Given the description of an element on the screen output the (x, y) to click on. 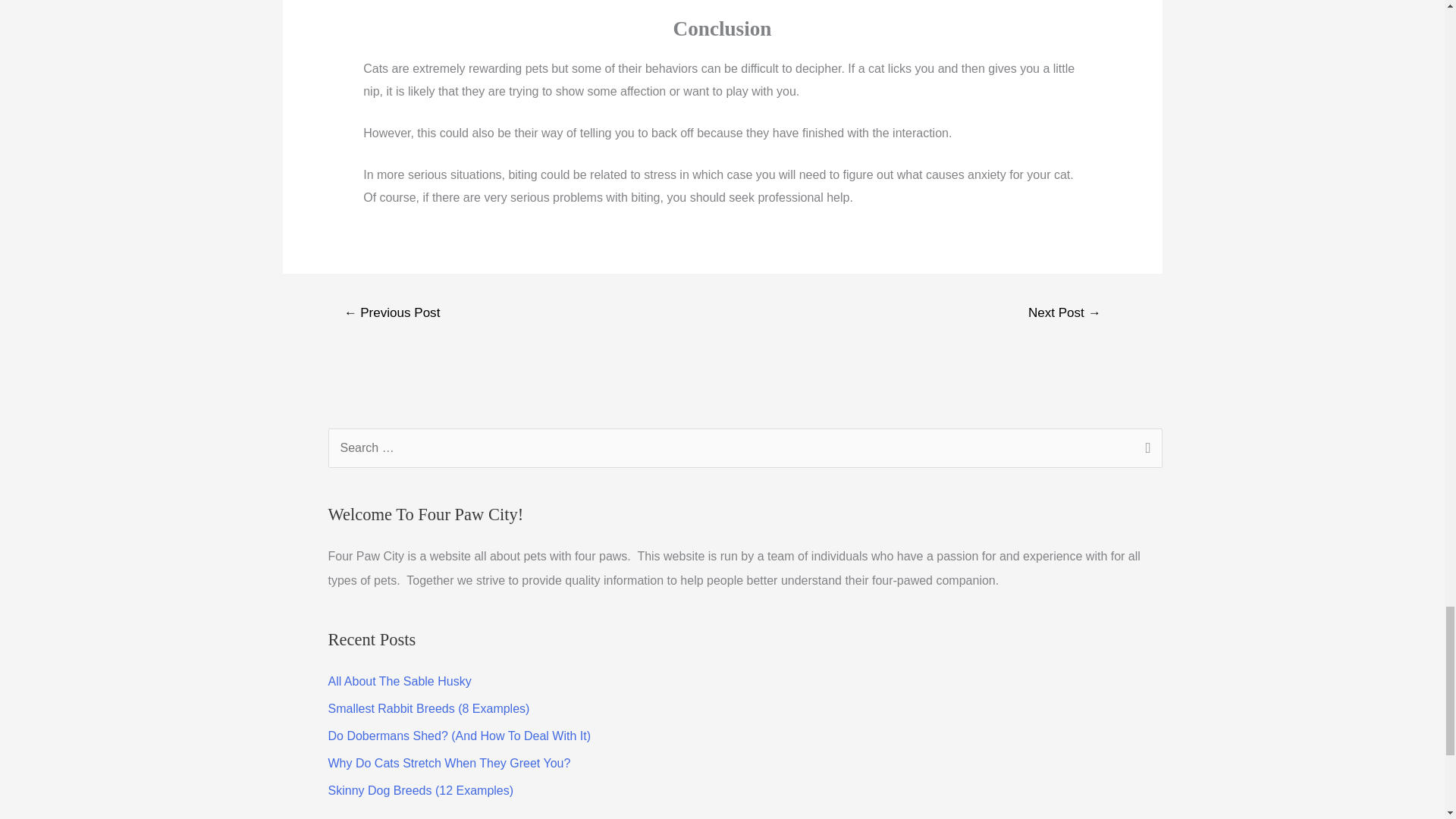
Search (1144, 449)
Search (1144, 449)
All About The Sable Husky (398, 680)
Search (1144, 449)
Why Do Cats Stretch When They Greet You? (448, 762)
